Given the description of an element on the screen output the (x, y) to click on. 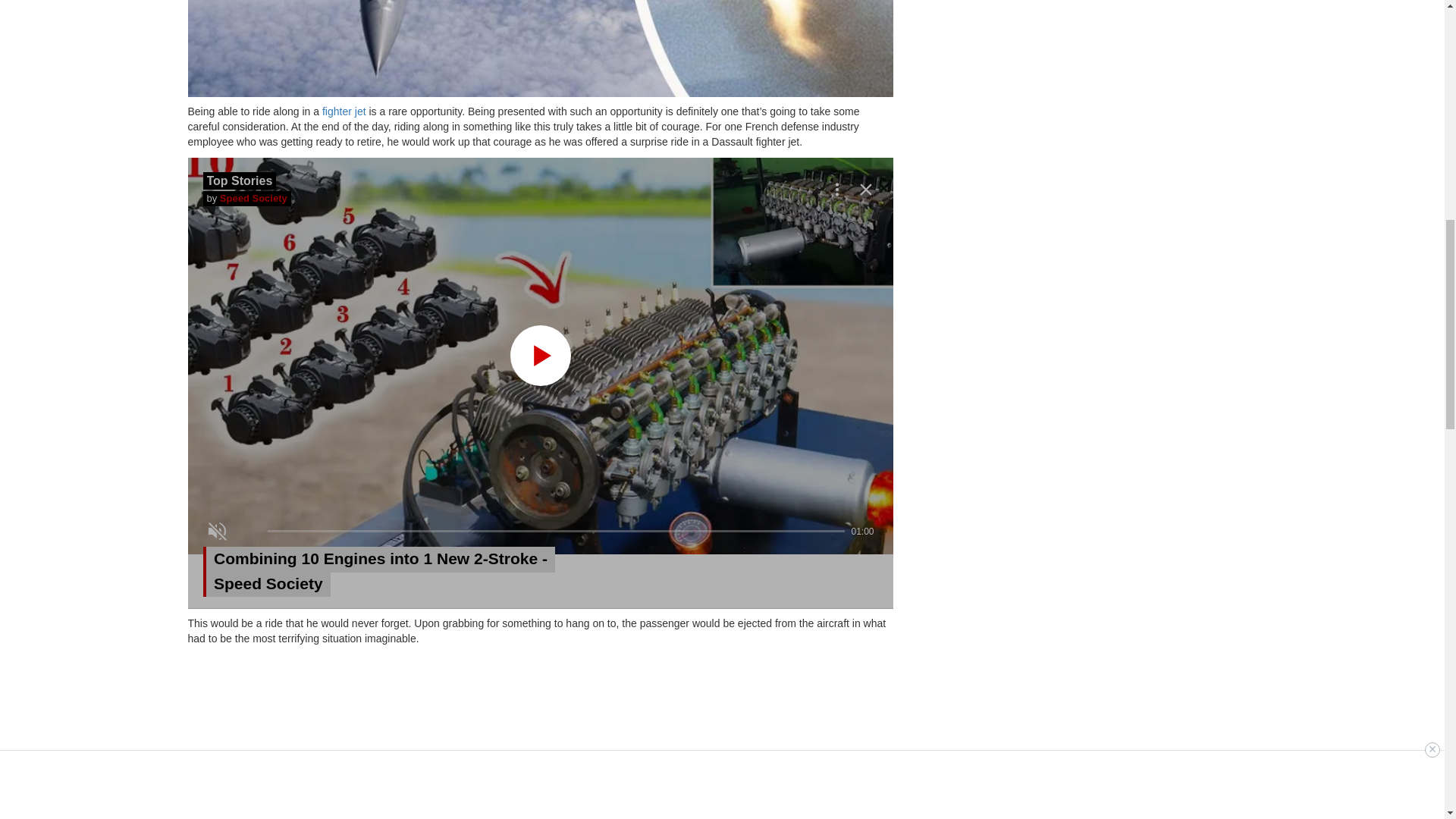
fighter jet (343, 111)
Combining 10 Engines into 1 New 2-Stroke - Speed Society (410, 572)
